Given the description of an element on the screen output the (x, y) to click on. 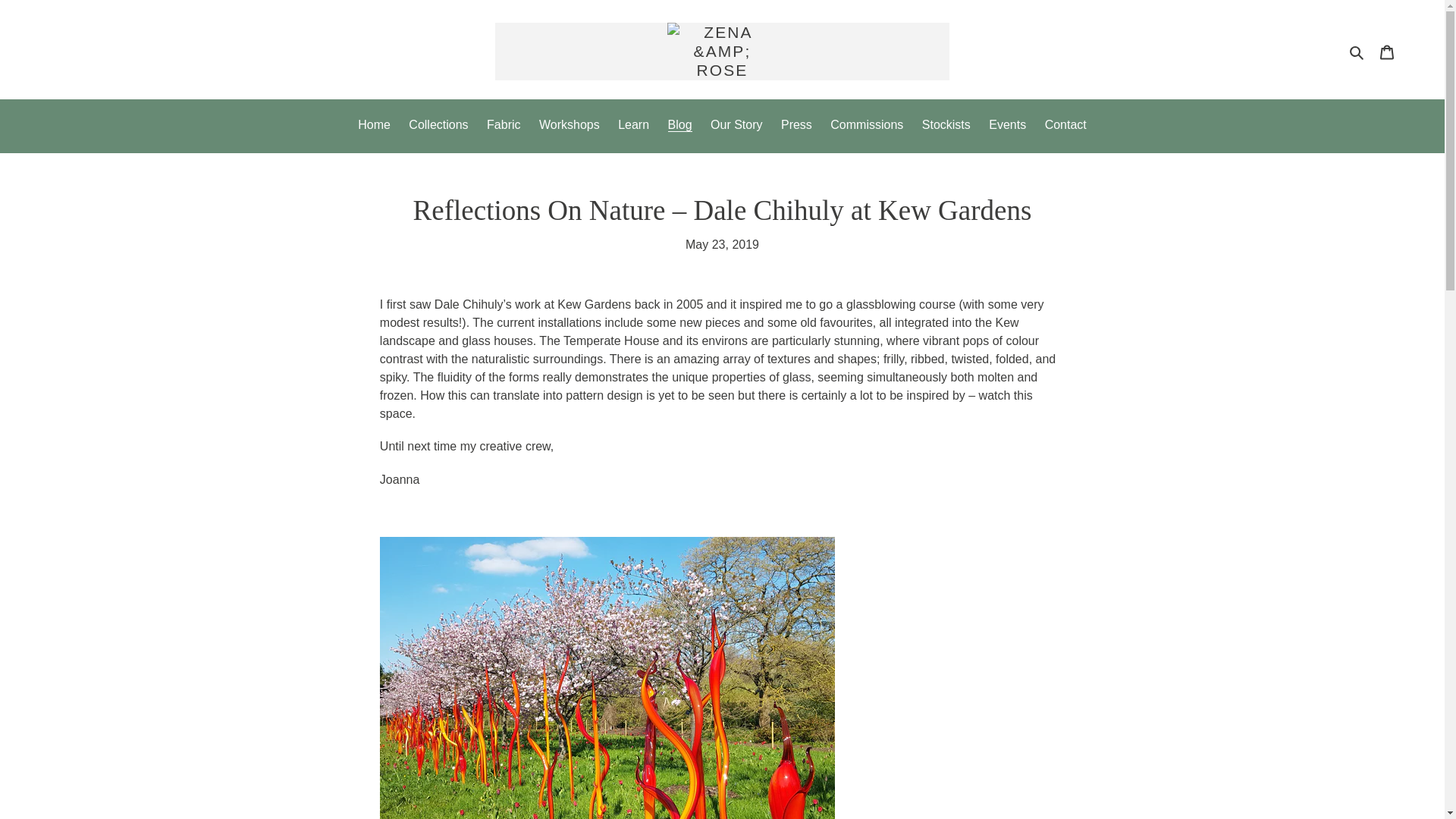
Contact (1065, 126)
Our Story (736, 126)
Search (1357, 51)
Stockists (946, 126)
Blog (680, 126)
Cart (1387, 51)
Workshops (569, 126)
Home (373, 126)
Press (796, 126)
Learn (633, 126)
